Given the description of an element on the screen output the (x, y) to click on. 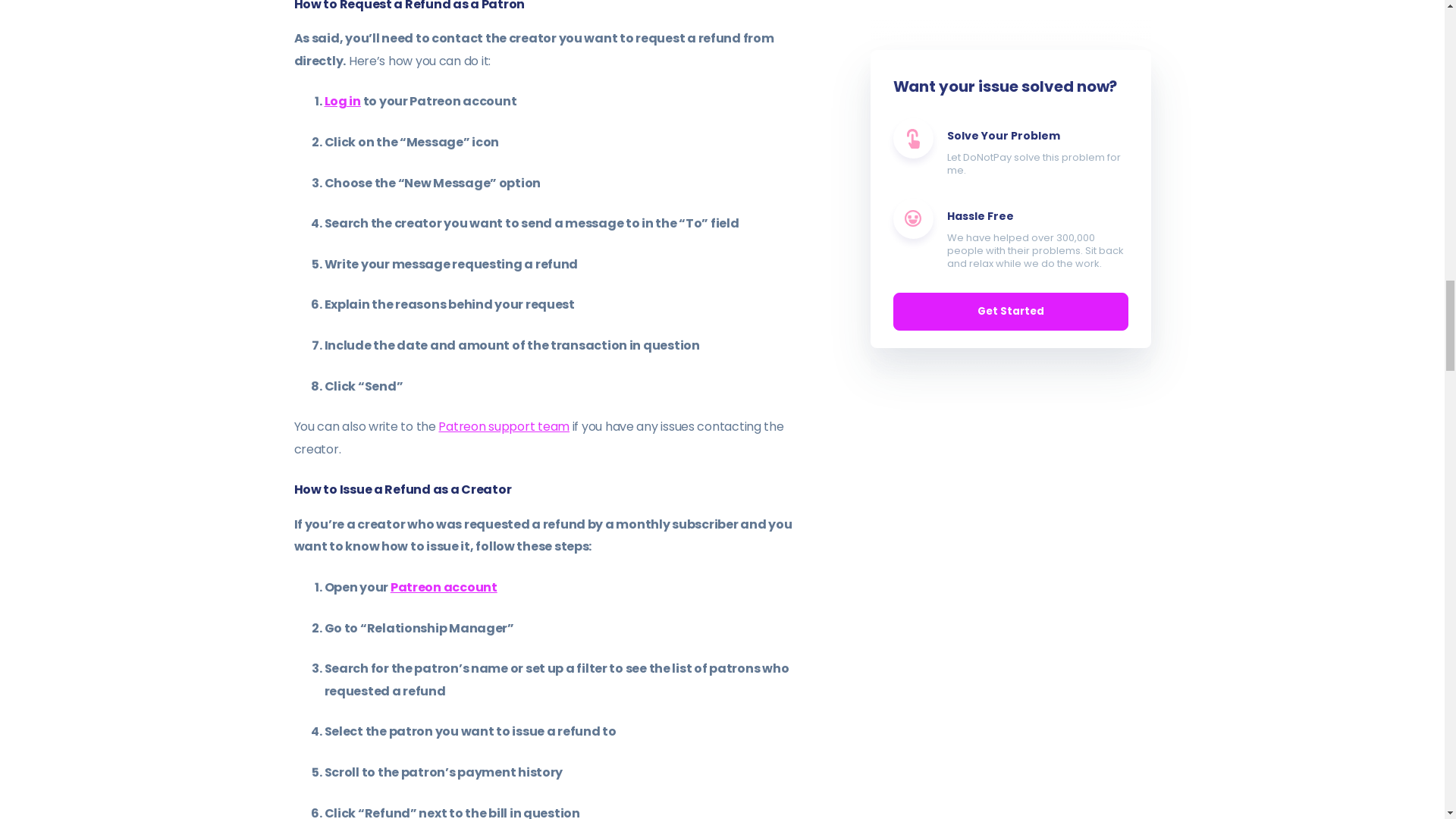
Patreon account (443, 587)
Patreon support team (503, 425)
Log in (342, 100)
